Given the description of an element on the screen output the (x, y) to click on. 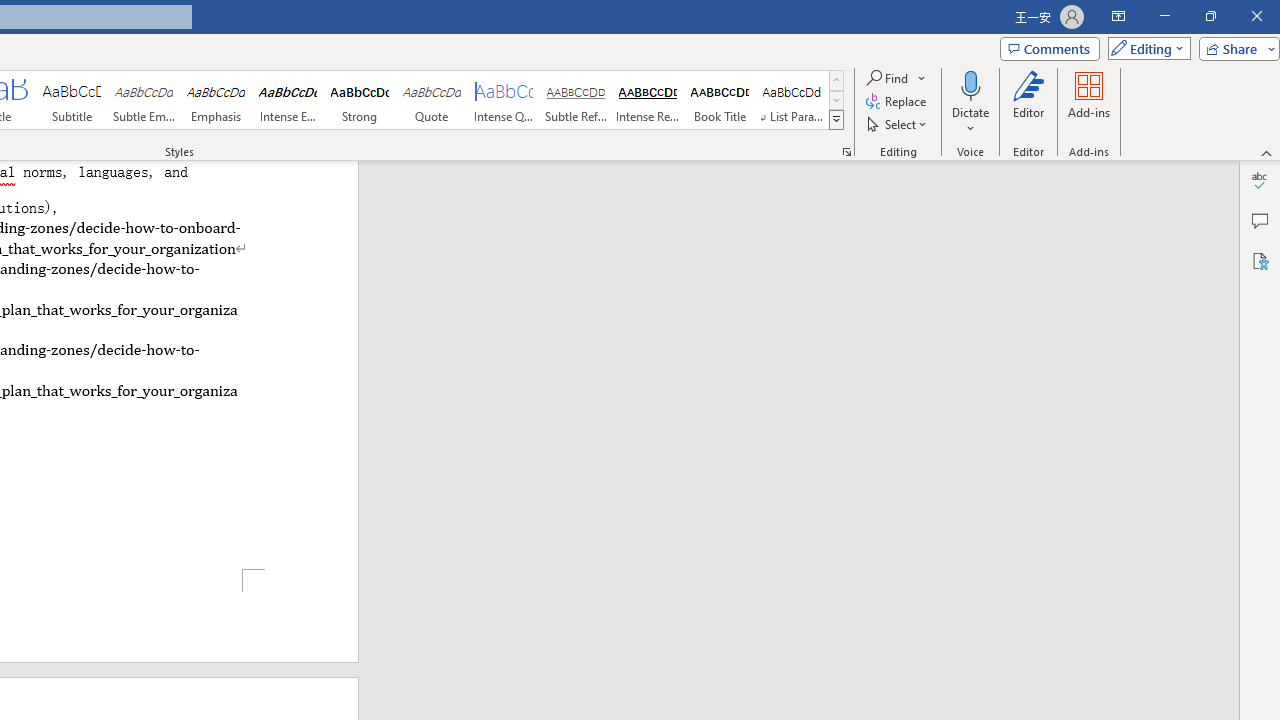
Replace... (897, 101)
Styles... (846, 151)
Strong (359, 100)
Book Title (719, 100)
Subtitle (71, 100)
Intense Quote (504, 100)
Select (898, 124)
Accessibility (1260, 260)
Quote (431, 100)
